Given the description of an element on the screen output the (x, y) to click on. 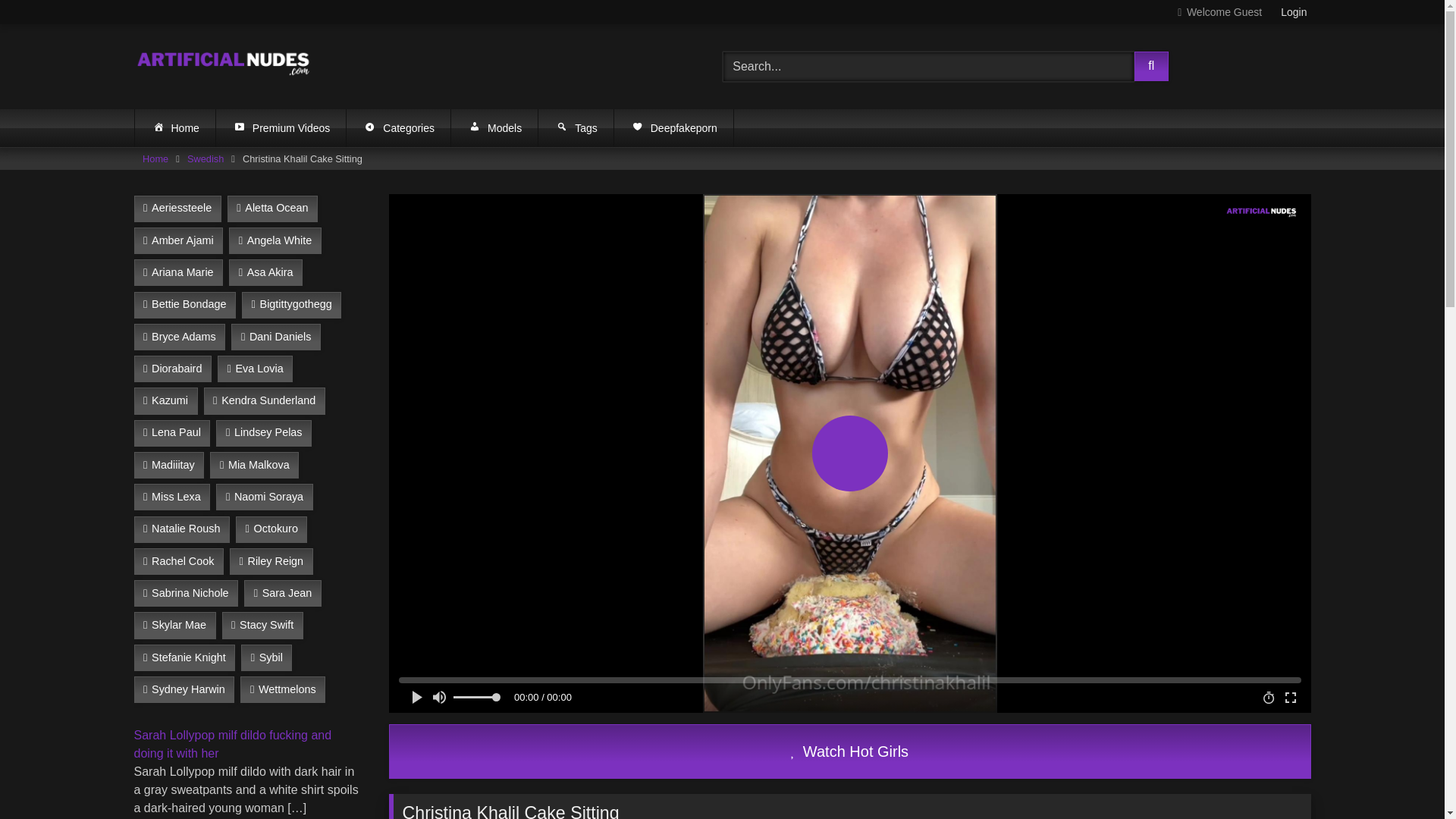
Christina Khalil Cake Sitting (849, 750)
Login (1293, 12)
Deepfakeporn (673, 127)
Premium Videos (280, 127)
Swedish (205, 158)
Search... (928, 66)
Watch Hot Girls (849, 750)
Models (494, 127)
Home (175, 127)
ArtificialNudes.com (224, 66)
